Given the description of an element on the screen output the (x, y) to click on. 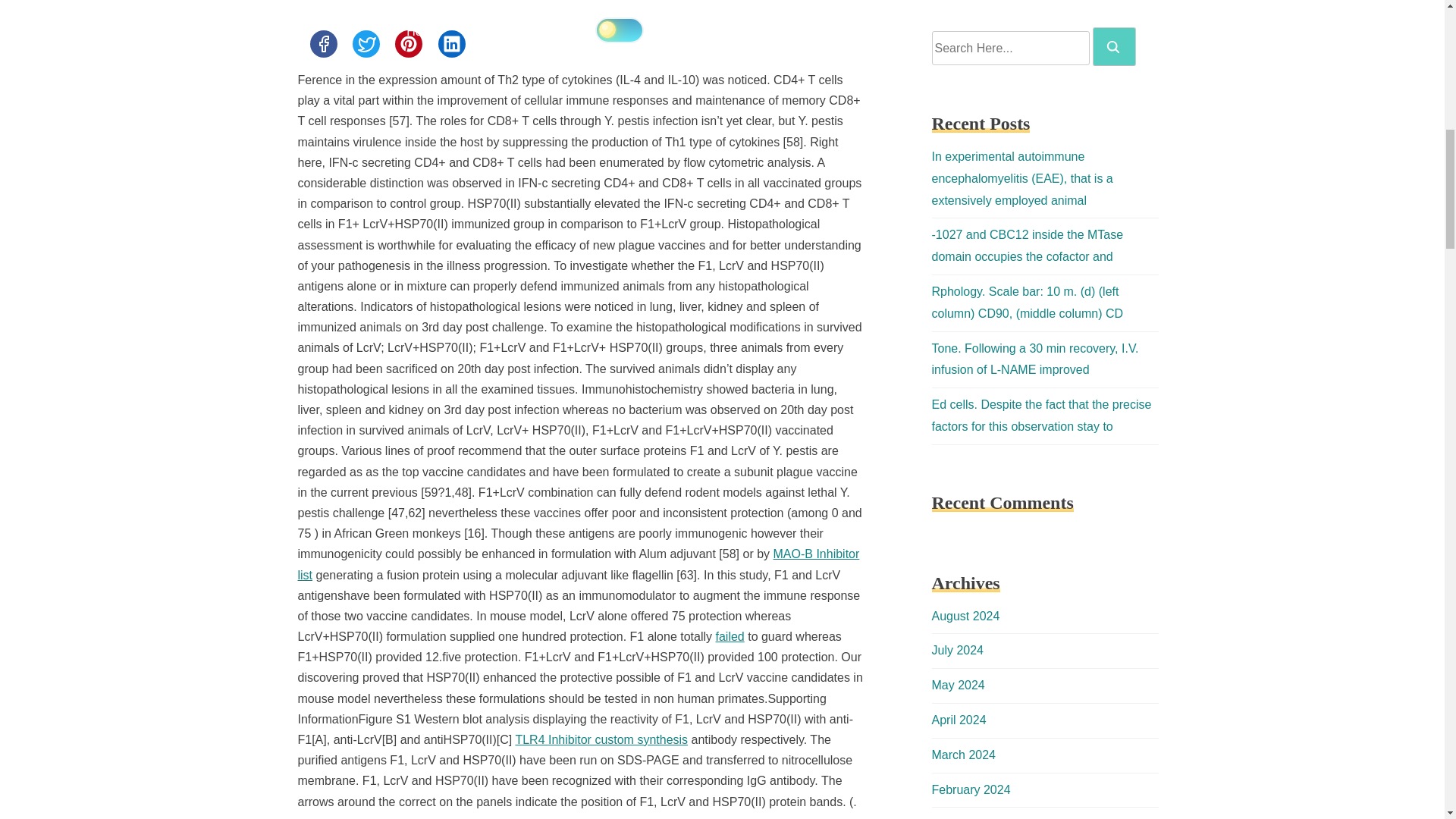
Share this post on Twitter (366, 43)
failed (729, 635)
TLR4 Inhibitor custom synthesis (601, 739)
Search (1114, 46)
Share this post on Facebook (322, 43)
Share this post on Pinterest (408, 43)
Share this post on Linkedin (451, 43)
MAO-B Inhibitor list (578, 563)
Search (1113, 46)
